Given the description of an element on the screen output the (x, y) to click on. 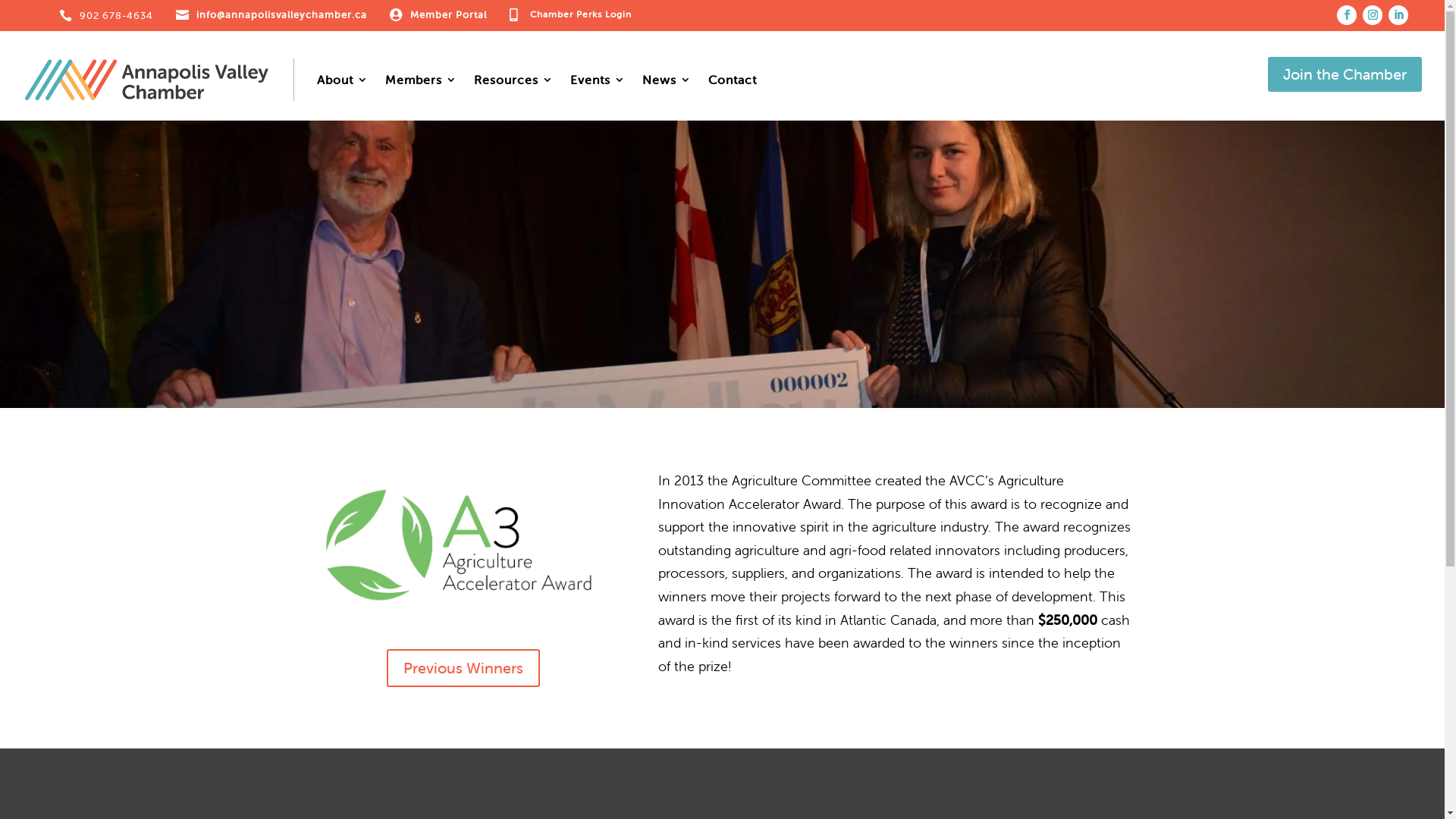
About Element type: text (342, 79)
Resources Element type: text (513, 79)
Previous Winners Element type: text (462, 668)
Events Element type: text (597, 79)
Chamber Perks Login Element type: text (580, 13)
Member Portal Element type: text (448, 14)
Follow on Facebook Element type: hover (1346, 14)
Follow on Instagram Element type: hover (1372, 14)
Contact Element type: text (732, 79)
info@annapolisvalleychamber.ca Element type: text (281, 14)
News Element type: text (666, 79)
Follow on LinkedIn Element type: hover (1398, 14)
Join the Chamber Element type: text (1344, 73)
NEW+LOGO+2020 Element type: hover (462, 547)
Members Element type: text (421, 79)
